Given the description of an element on the screen output the (x, y) to click on. 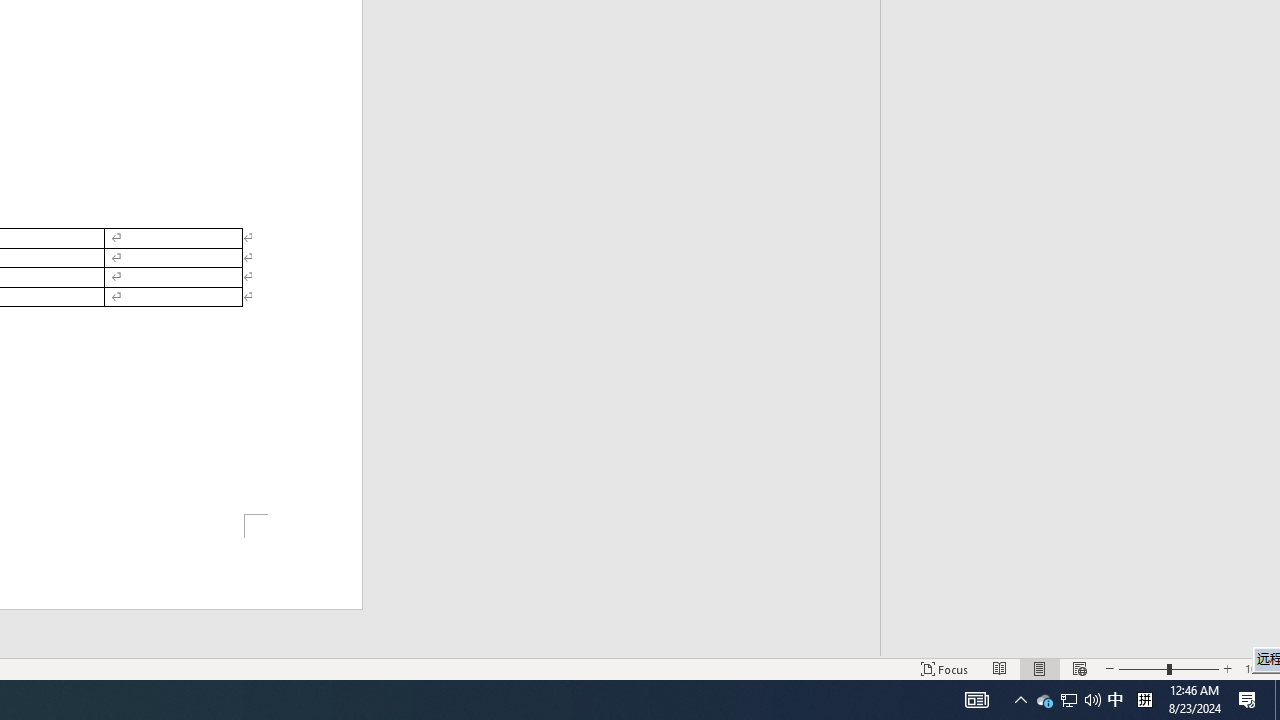
Zoom In (1227, 668)
Focus  (944, 668)
Zoom (1168, 668)
Read Mode (1000, 668)
Web Layout (1079, 668)
Zoom Out (1142, 668)
Print Layout (1039, 668)
Zoom 100% (1258, 668)
